Given the description of an element on the screen output the (x, y) to click on. 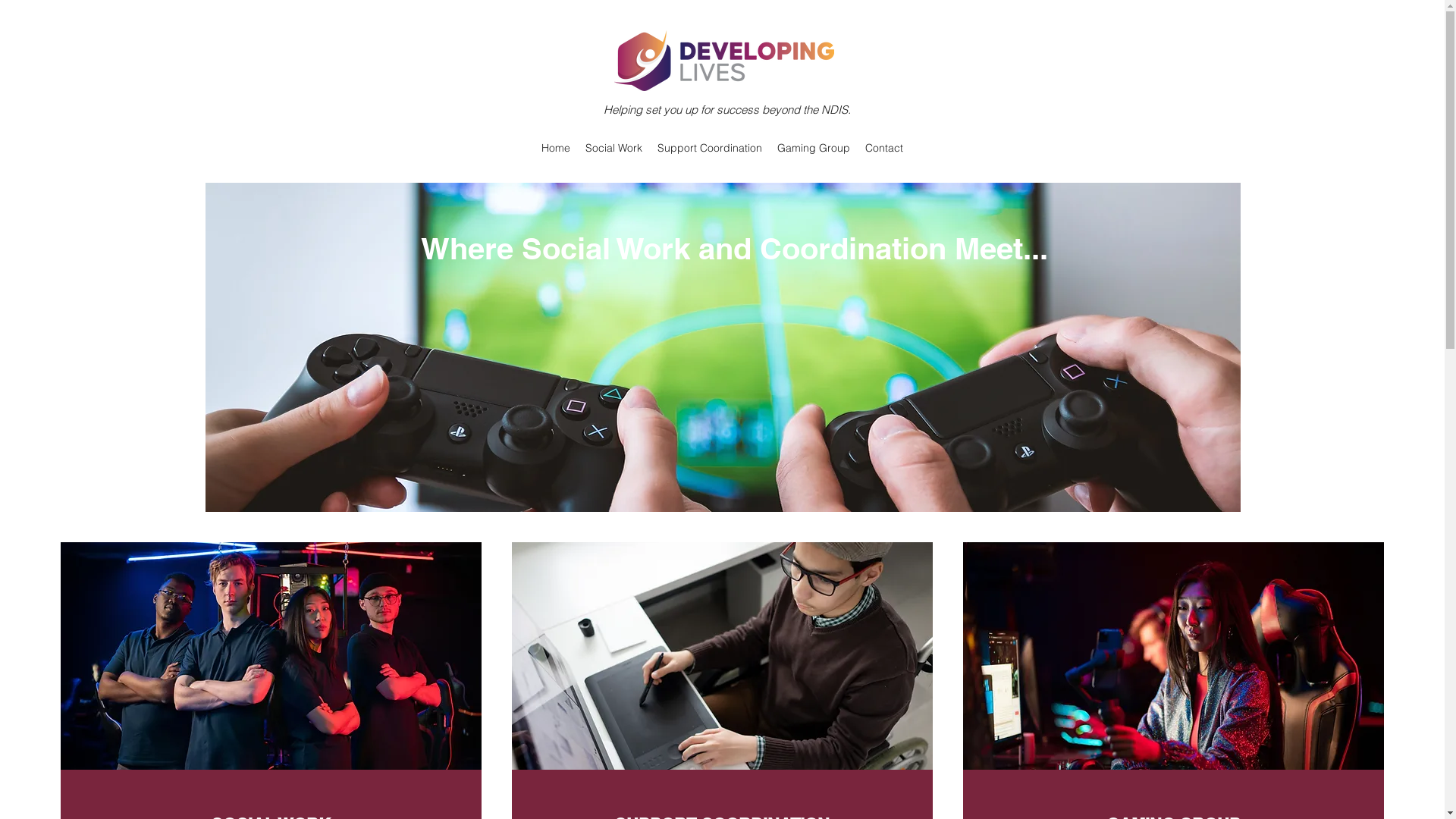
Home Element type: text (555, 147)
Support Coordination Element type: text (709, 147)
Gaming Group Element type: text (813, 147)
Contact Element type: text (883, 147)
Social Work Element type: text (613, 147)
